Given the description of an element on the screen output the (x, y) to click on. 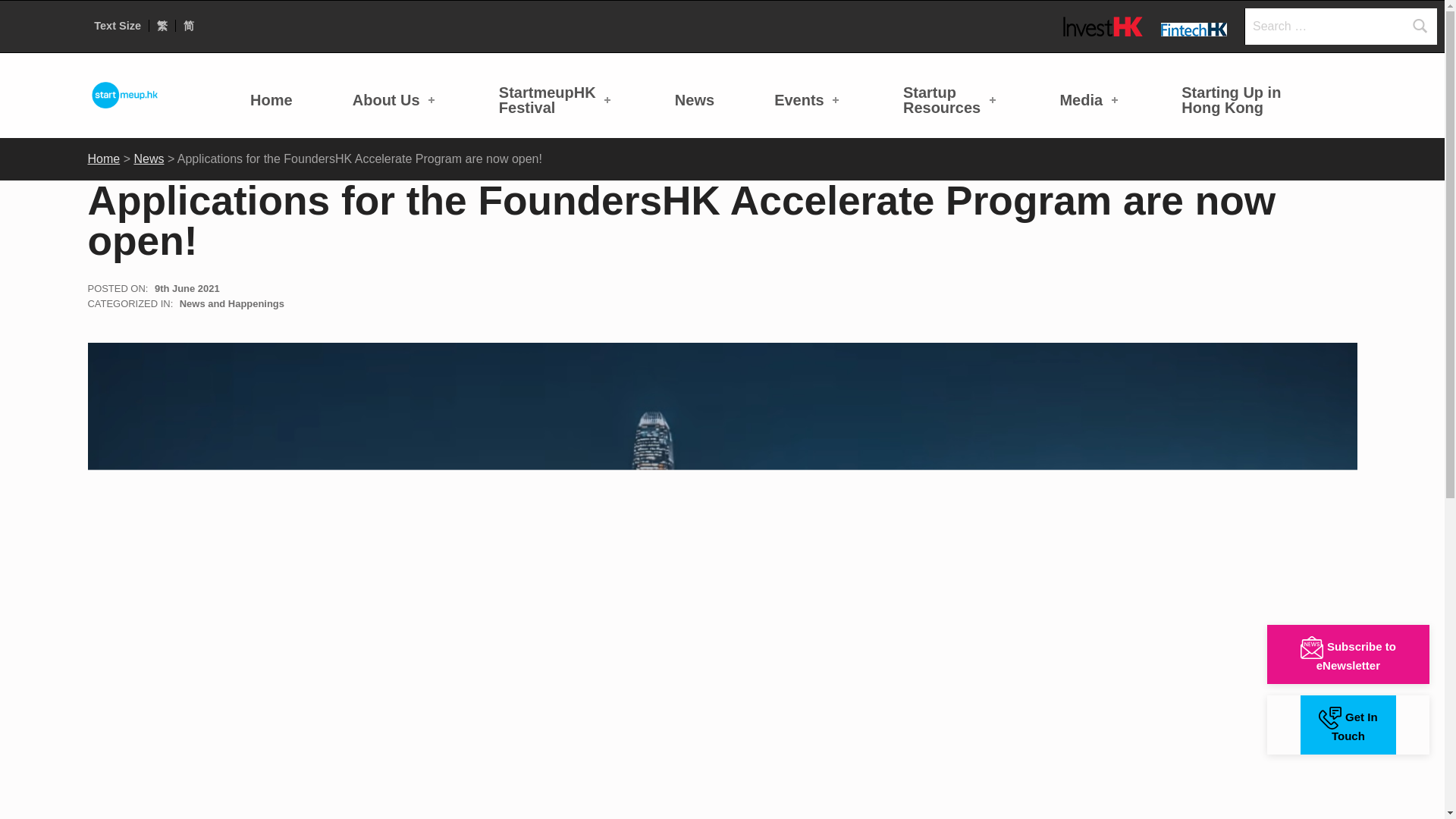
InvestHK logo (1102, 26)
Get In Touch (1348, 724)
News (694, 99)
Subscribe to eNewsletter (1347, 653)
Search (1420, 26)
Search (557, 99)
About Us (1420, 26)
Home (395, 99)
STARTMEUPHK (271, 99)
Events (171, 79)
Posted on: 9th June 2021 (808, 99)
fintechhk (186, 288)
